Given the description of an element on the screen output the (x, y) to click on. 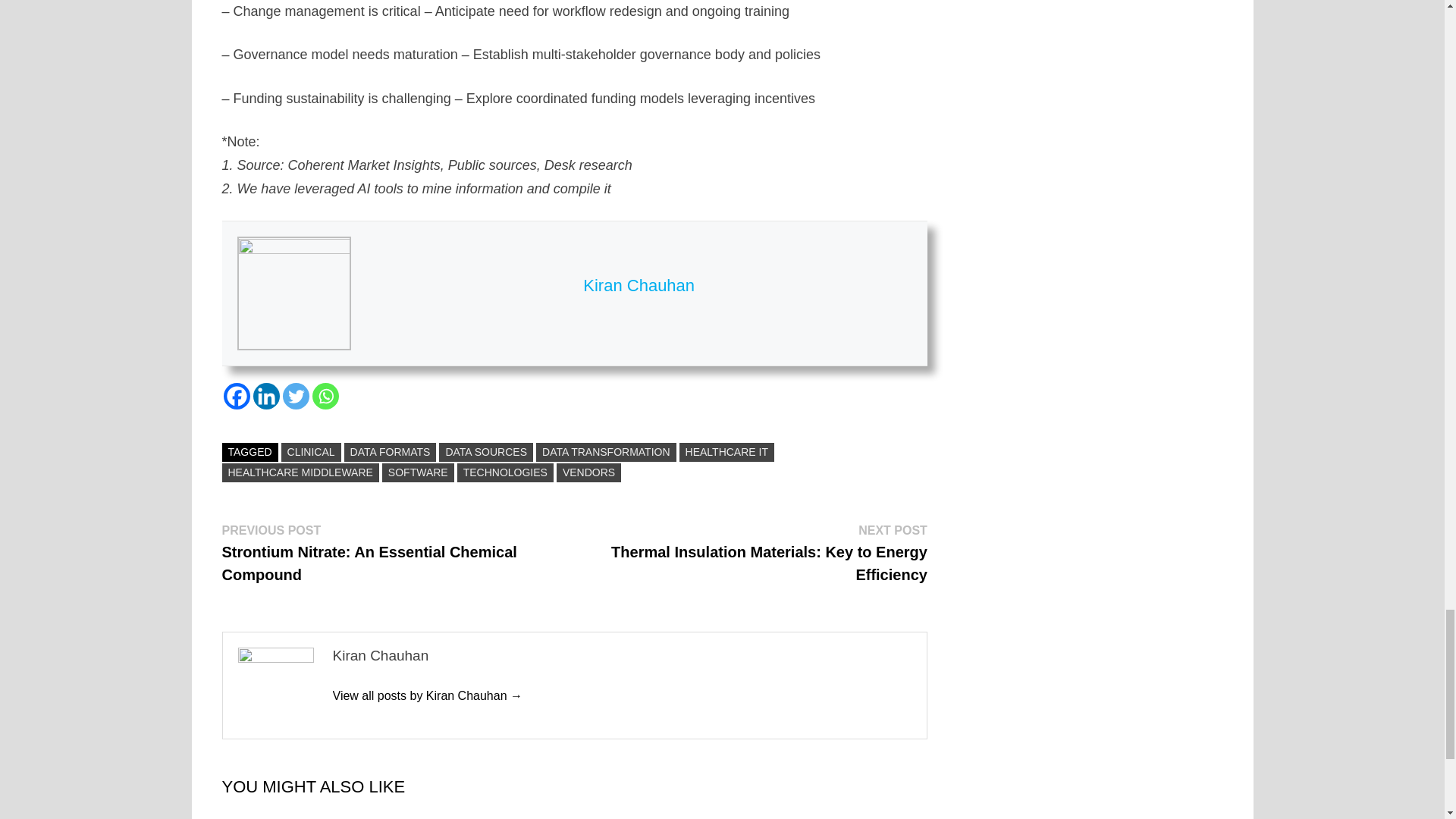
Facebook (235, 396)
Linkedin (266, 396)
Whatsapp (326, 396)
Twitter (295, 396)
Kiran Chauhan (426, 695)
